Given the description of an element on the screen output the (x, y) to click on. 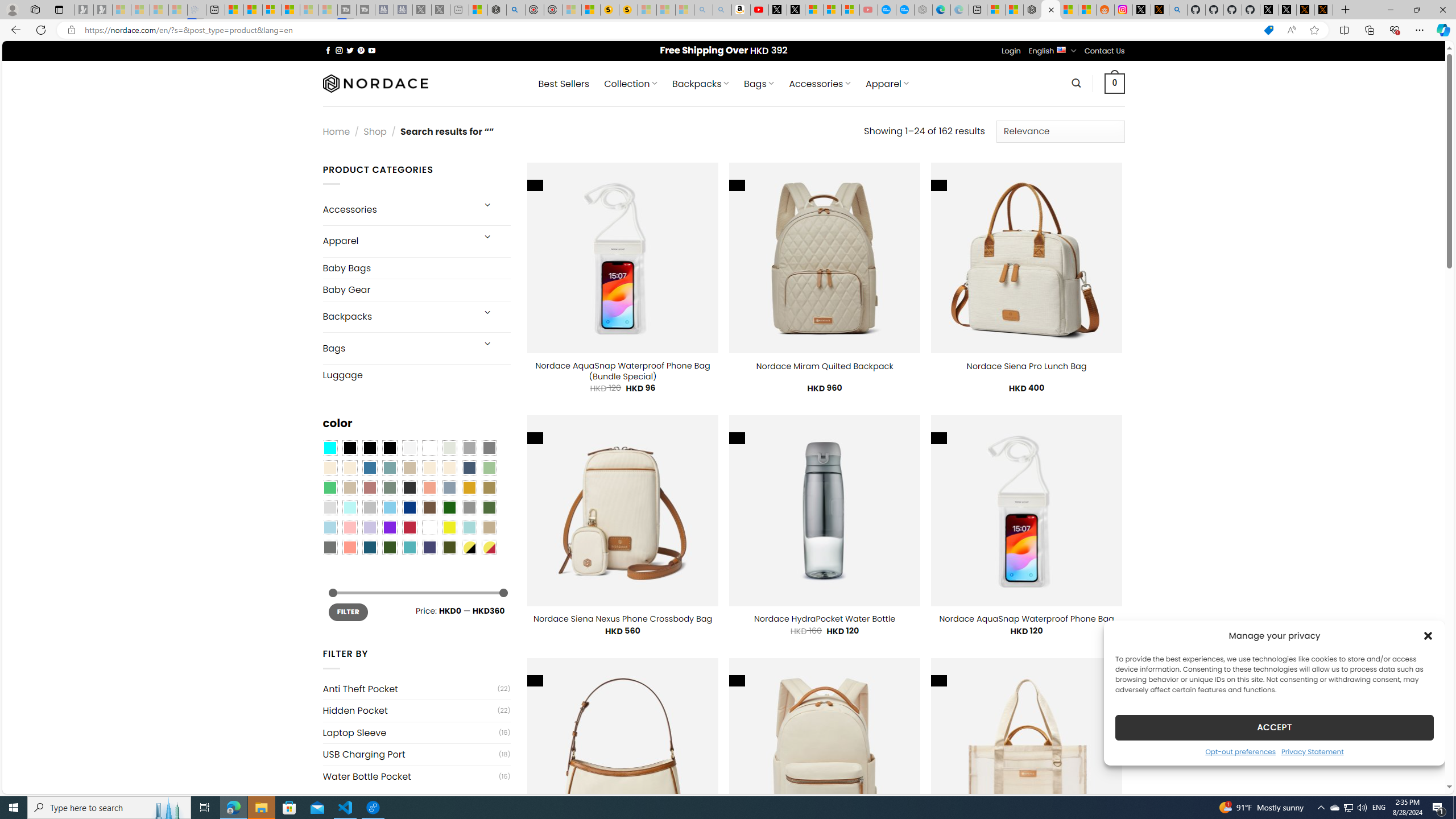
Peach Pink (349, 547)
Sky Blue (389, 507)
Caramel (429, 467)
Laptop Sleeve (410, 732)
Water Bottle Pocket(16) (416, 775)
New tab - Sleeping (459, 9)
Dull Nickle (329, 547)
Browser essentials (1394, 29)
Silver (369, 507)
Minimize (1390, 9)
New Tab (1346, 9)
